Given the description of an element on the screen output the (x, y) to click on. 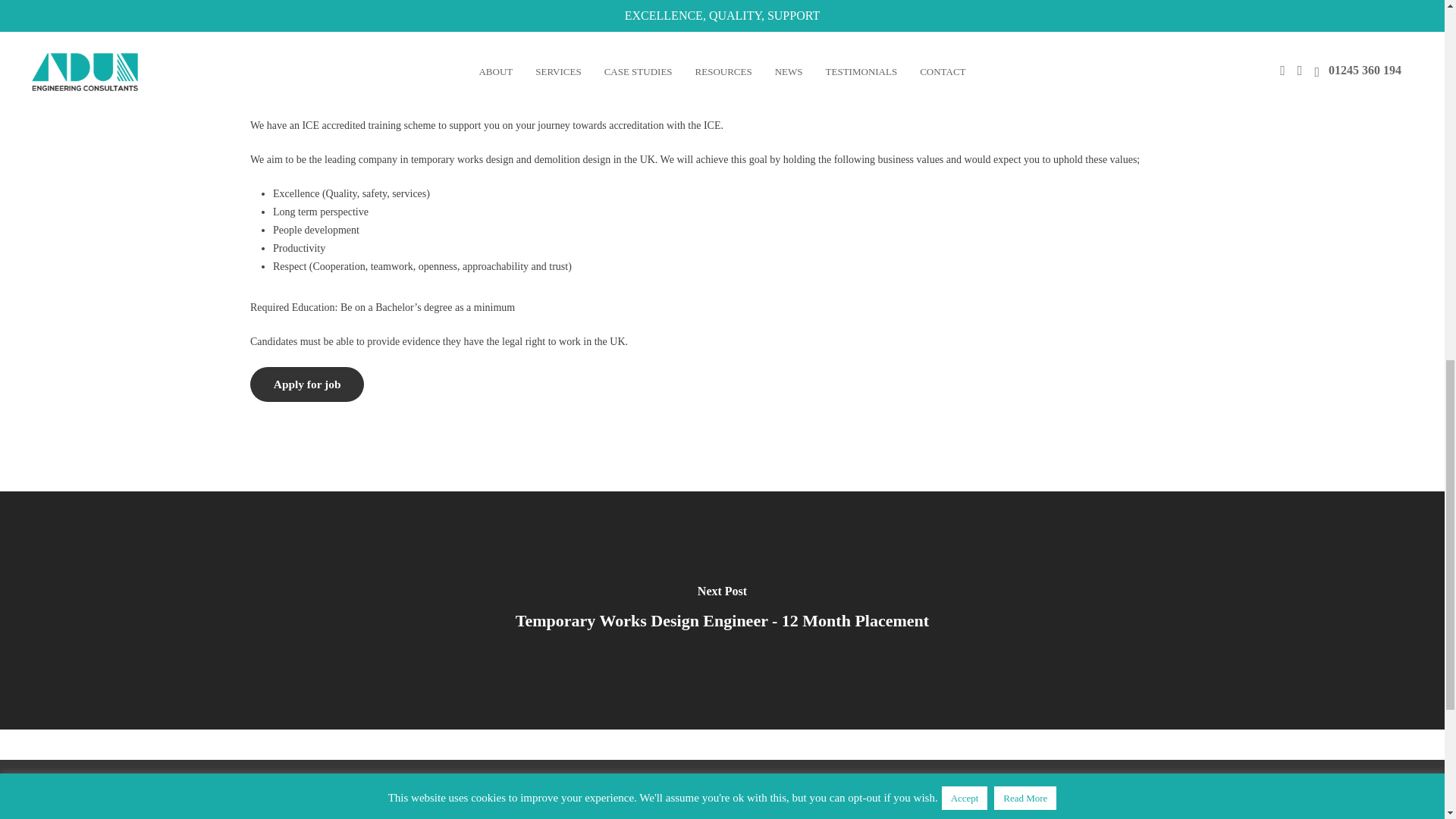
Apply for job (307, 384)
